Given the description of an element on the screen output the (x, y) to click on. 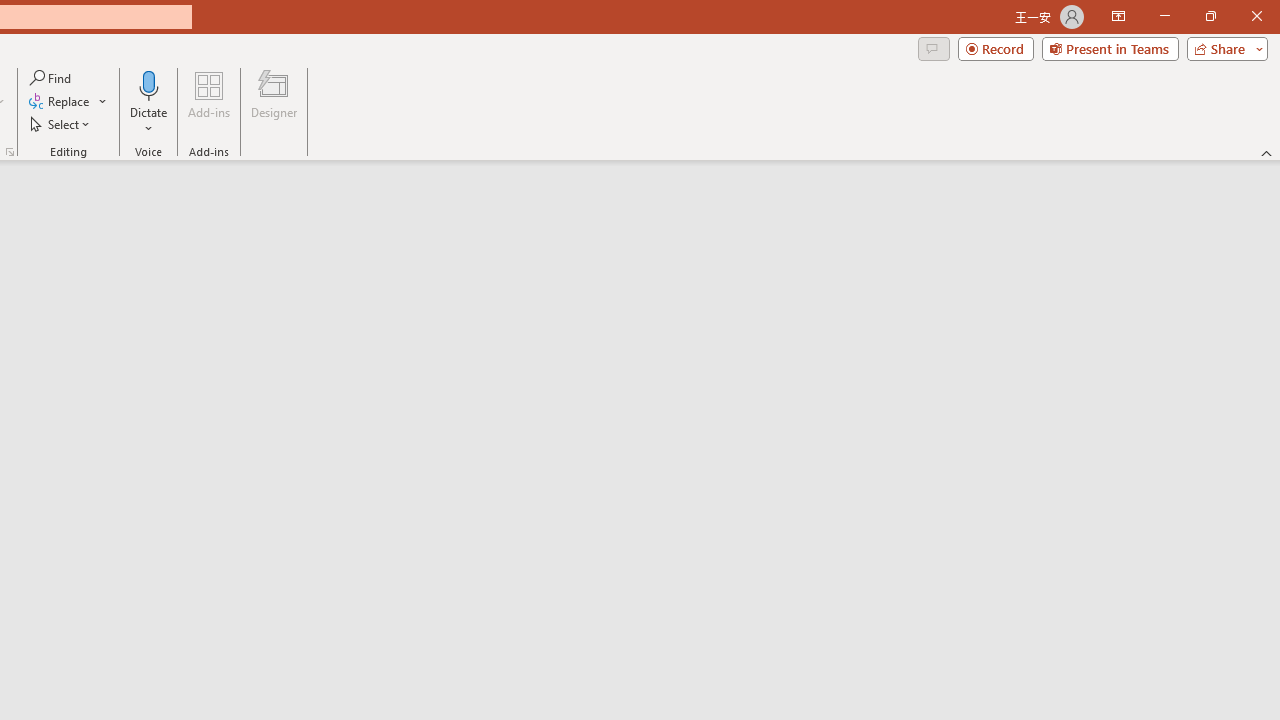
Find... (51, 78)
Format Object... (9, 151)
Select (61, 124)
